Given the description of an element on the screen output the (x, y) to click on. 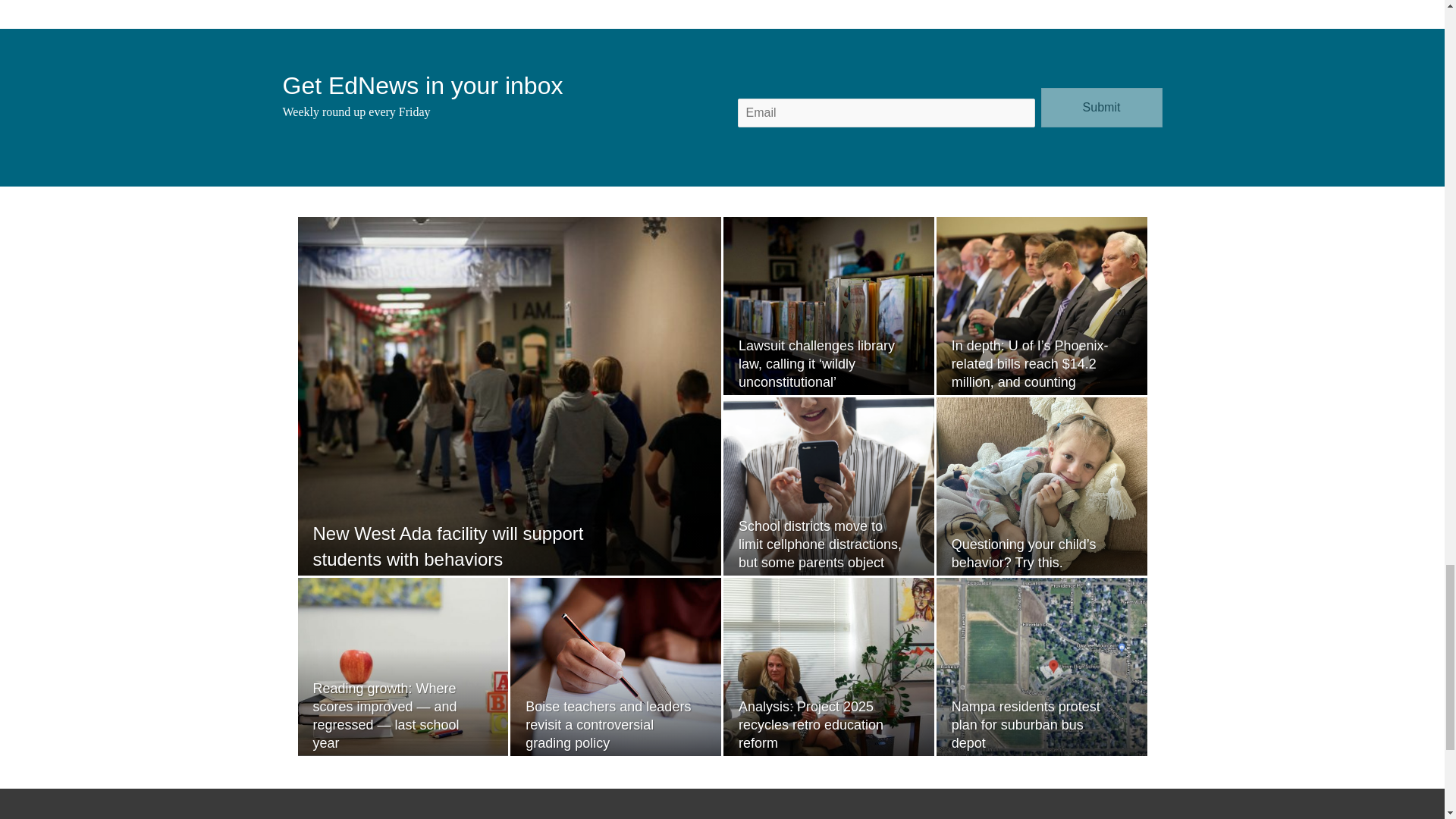
New West Ada facility will support students with behaviors (448, 546)
Analysis: Project 2025 recycles retro education reform (810, 725)
